Given the description of an element on the screen output the (x, y) to click on. 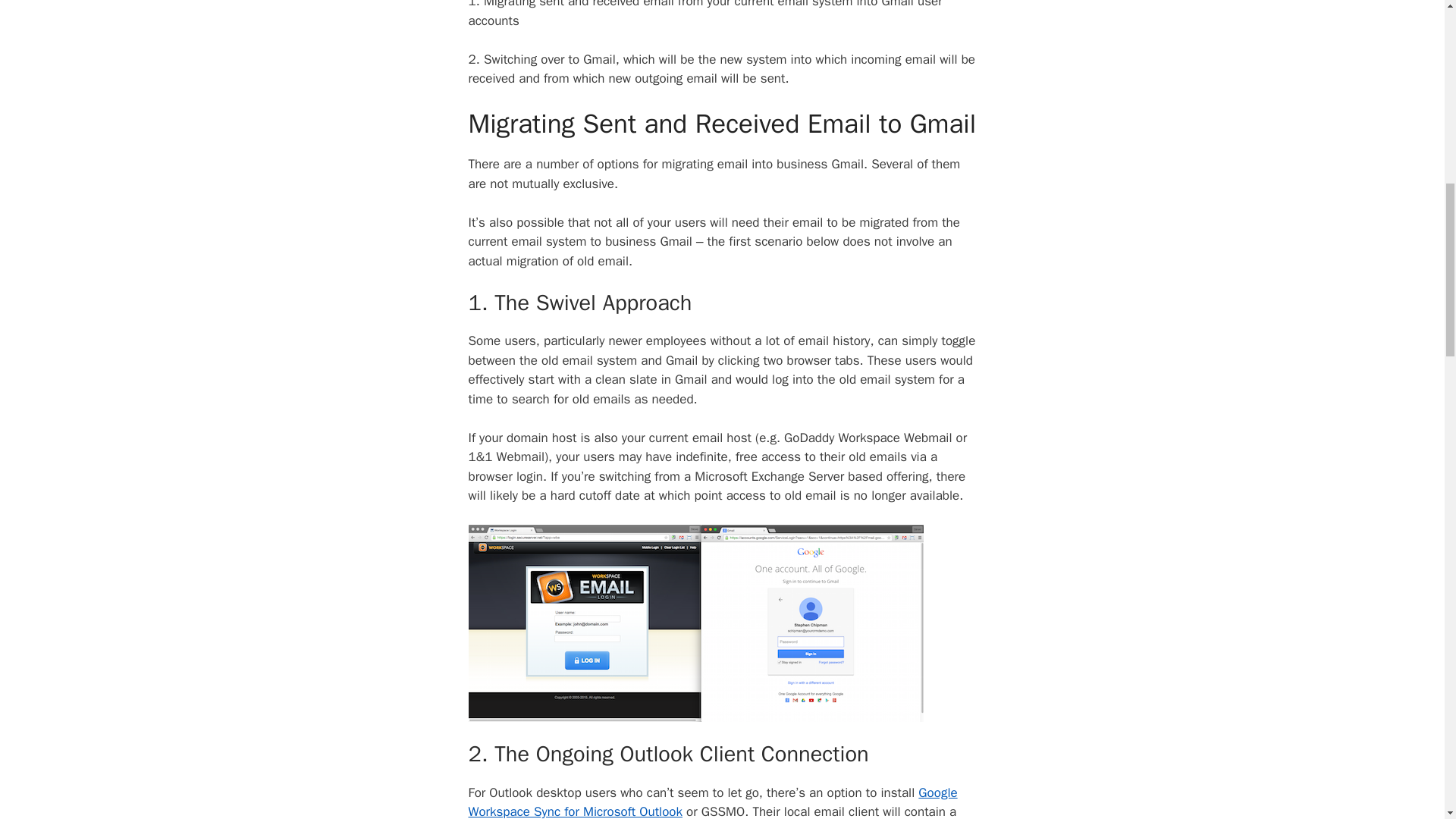
Google Workspace Sync for Microsoft Outlook (713, 801)
